Given the description of an element on the screen output the (x, y) to click on. 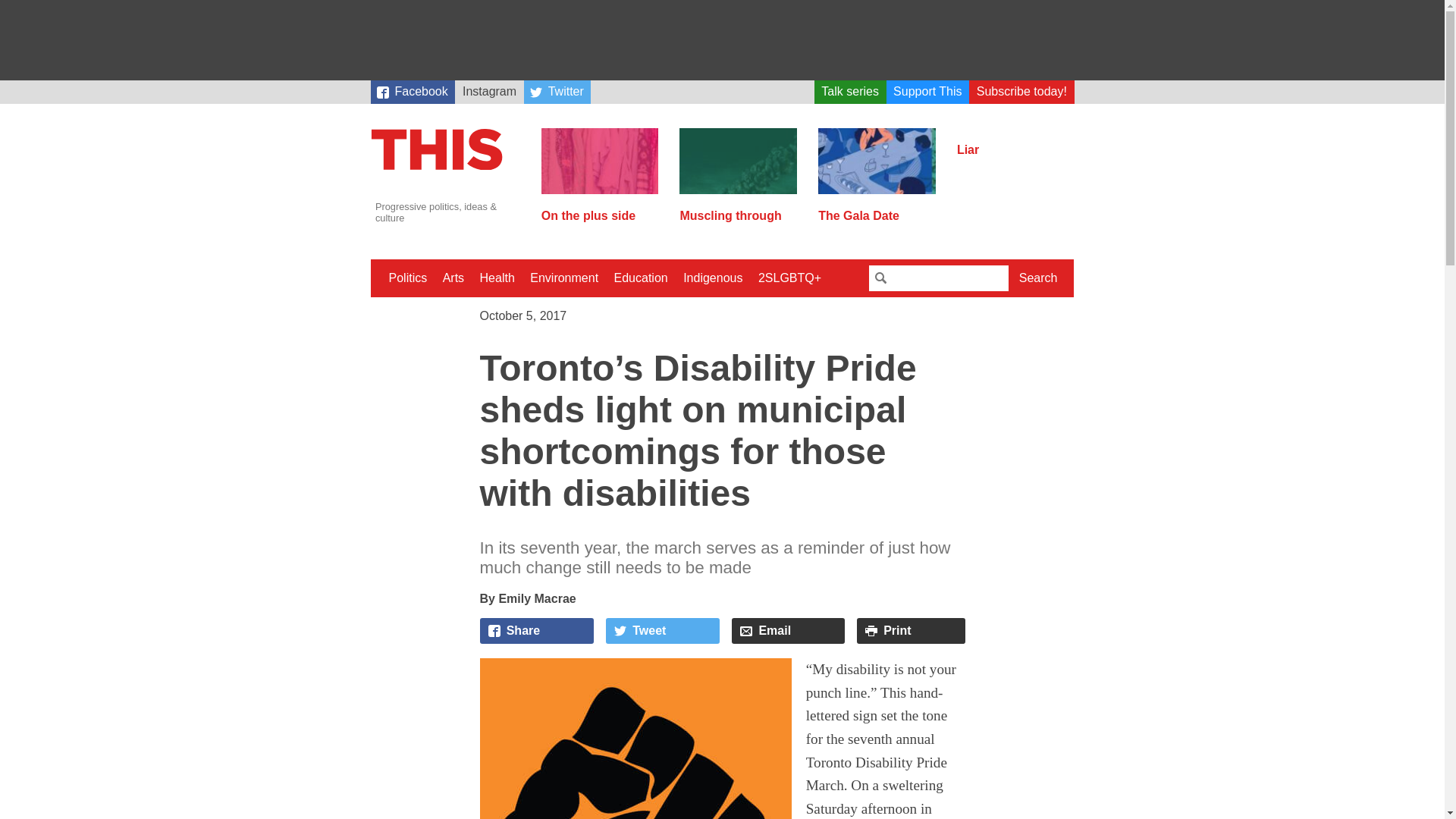
Subscribe today! (1021, 92)
Education (641, 277)
Politics (406, 277)
Facebook (411, 92)
Support This (927, 92)
Tweet (662, 630)
Twitter (557, 92)
Health (497, 277)
Muscling through (737, 208)
Environment (564, 277)
